Given the description of an element on the screen output the (x, y) to click on. 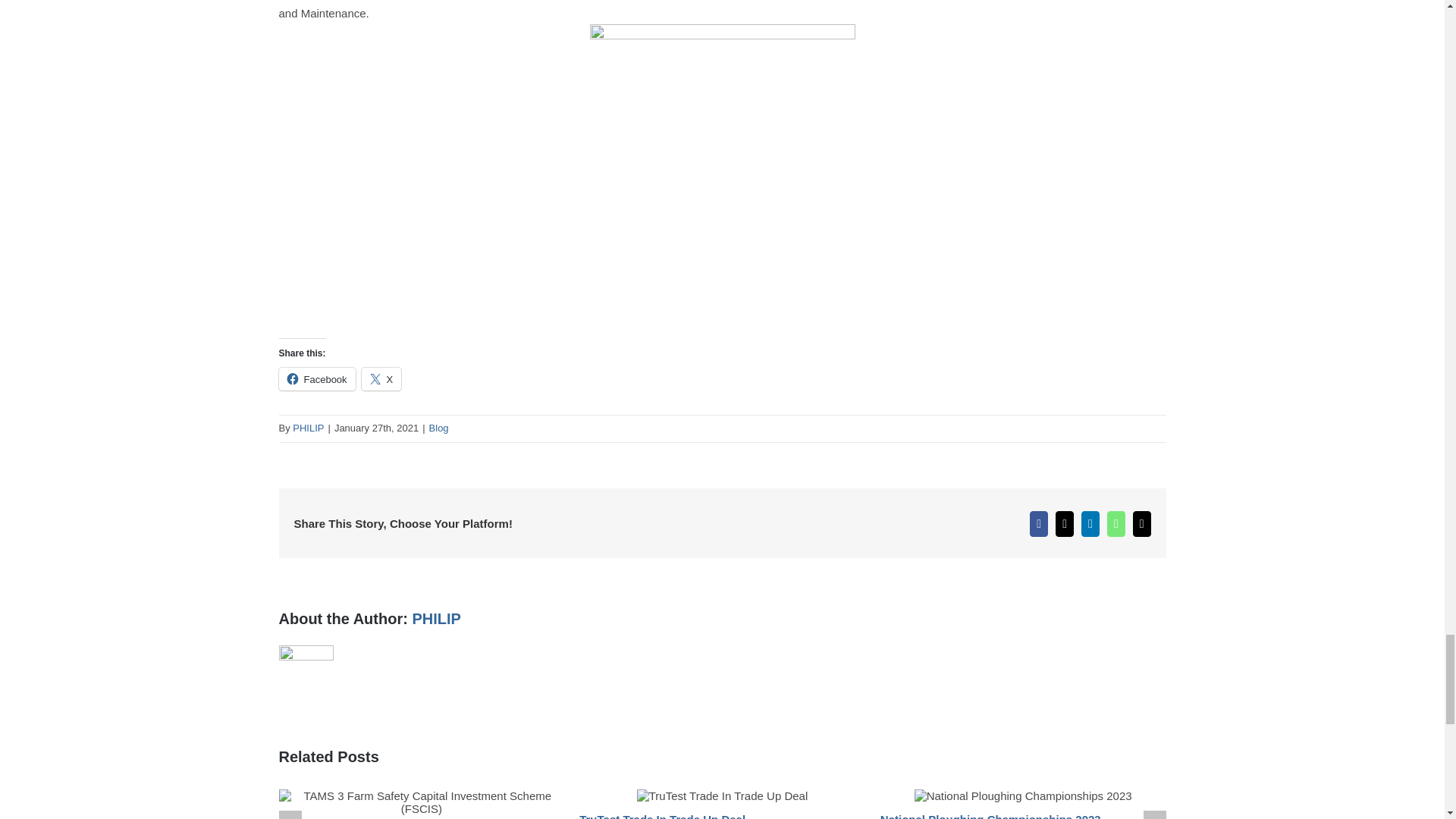
Click to share on X (381, 378)
Click to share on Facebook (317, 378)
National Ploughing Championships 2023 (990, 816)
TruTest Trade In Trade Up Deal (662, 816)
Posts by PHILIP (436, 618)
Posts by PHILIP (307, 428)
